Given the description of an element on the screen output the (x, y) to click on. 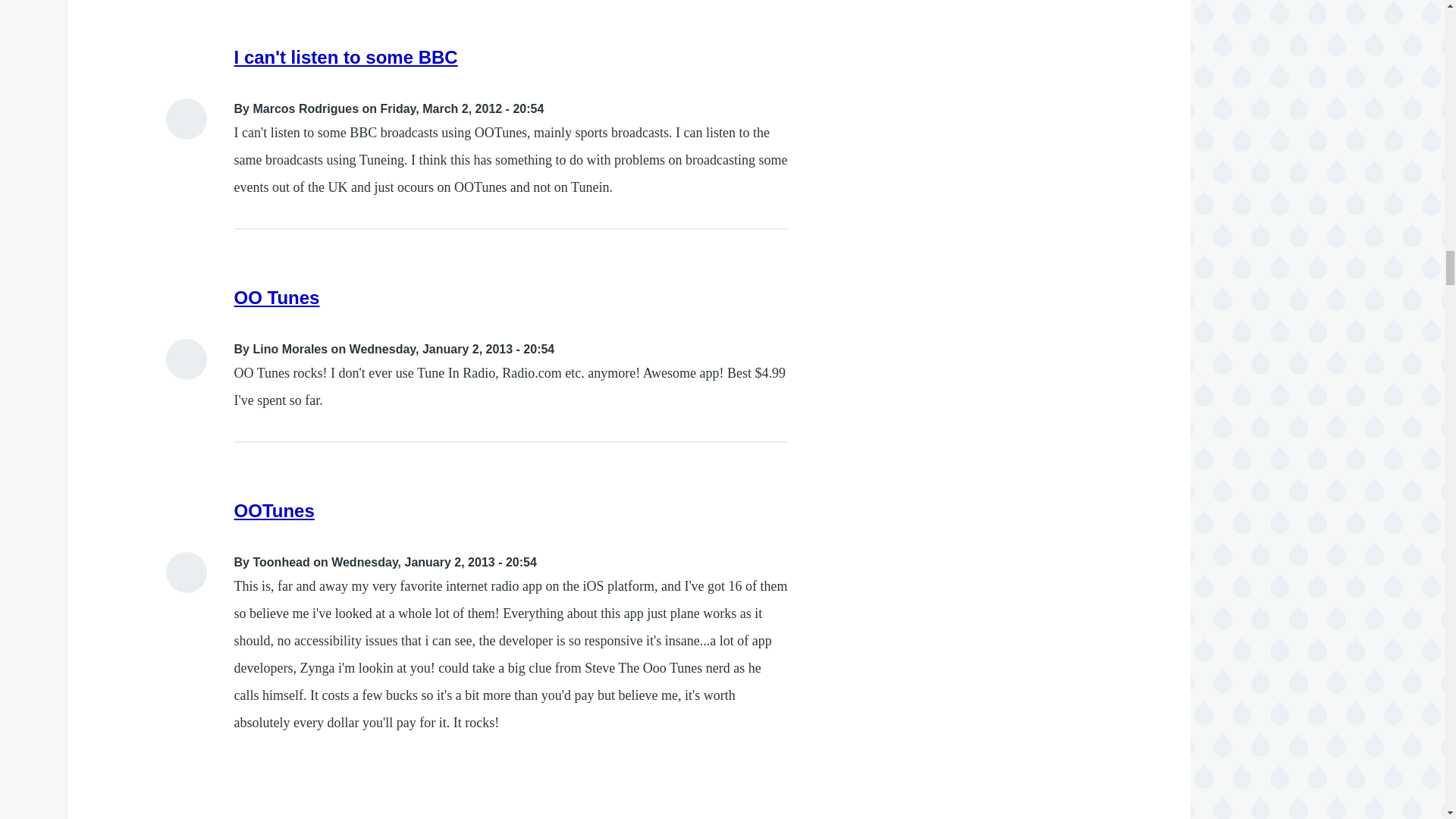
OO Tunes (277, 297)
I can't listen to some BBC (346, 56)
